Given the description of an element on the screen output the (x, y) to click on. 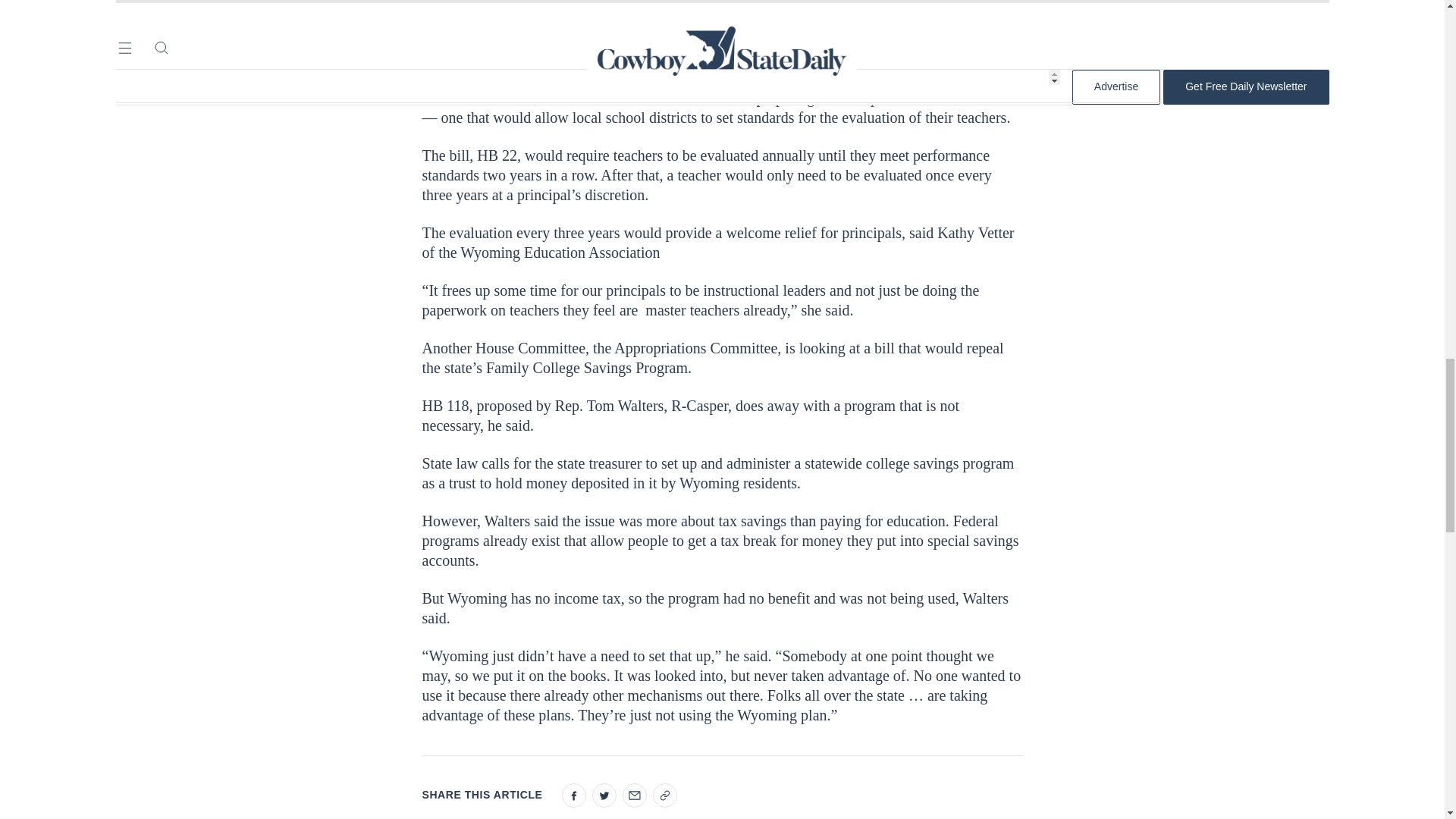
Twitter (603, 794)
Facebook (572, 794)
Copy to clipboard (664, 794)
